Given the description of an element on the screen output the (x, y) to click on. 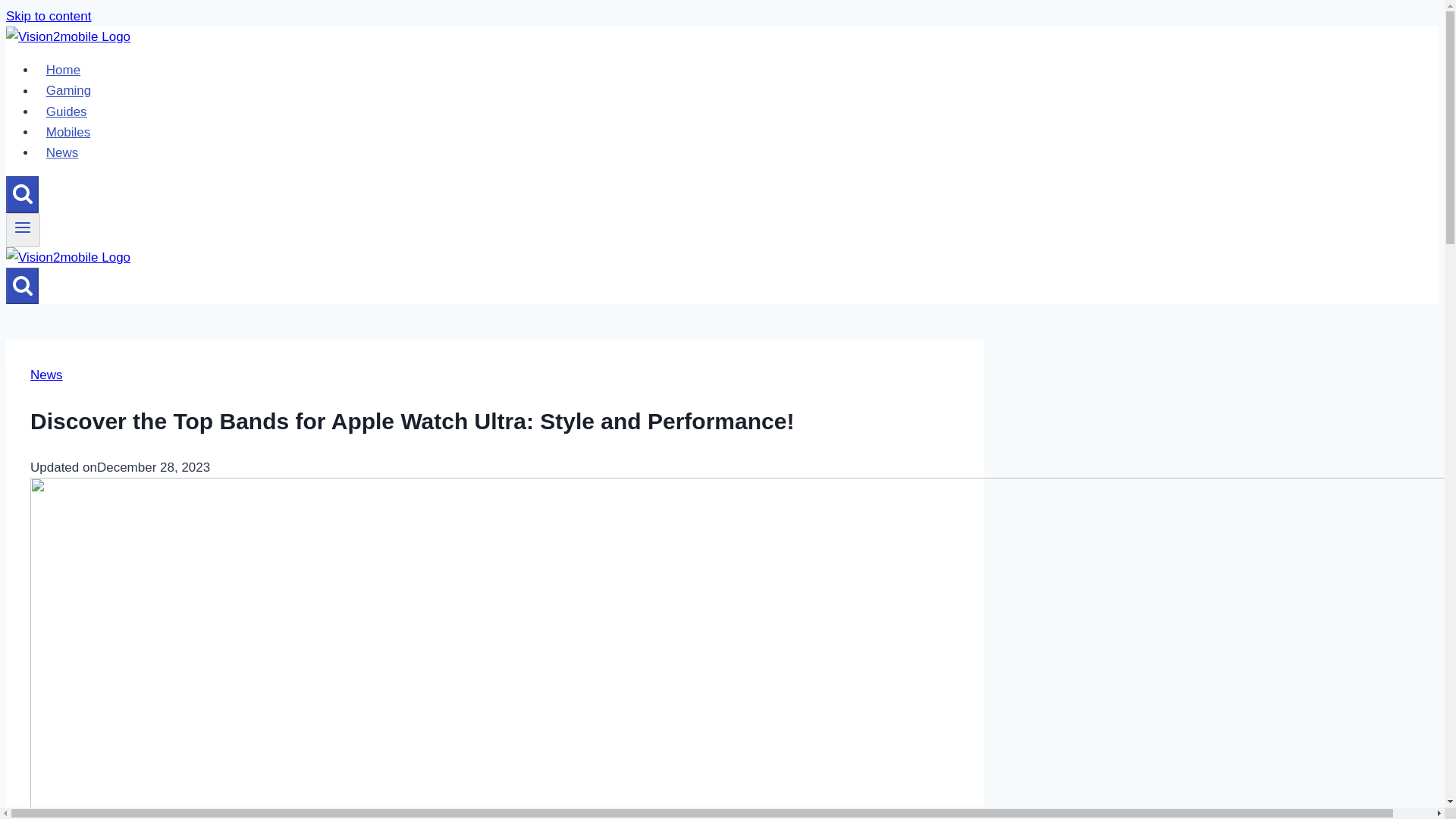
News (61, 152)
News (46, 374)
Skip to content (47, 16)
Search (22, 192)
Toggle Menu (22, 227)
Gaming (68, 90)
Mobiles (68, 132)
Skip to content (47, 16)
Search (22, 285)
Toggle Menu (22, 229)
